Given the description of an element on the screen output the (x, y) to click on. 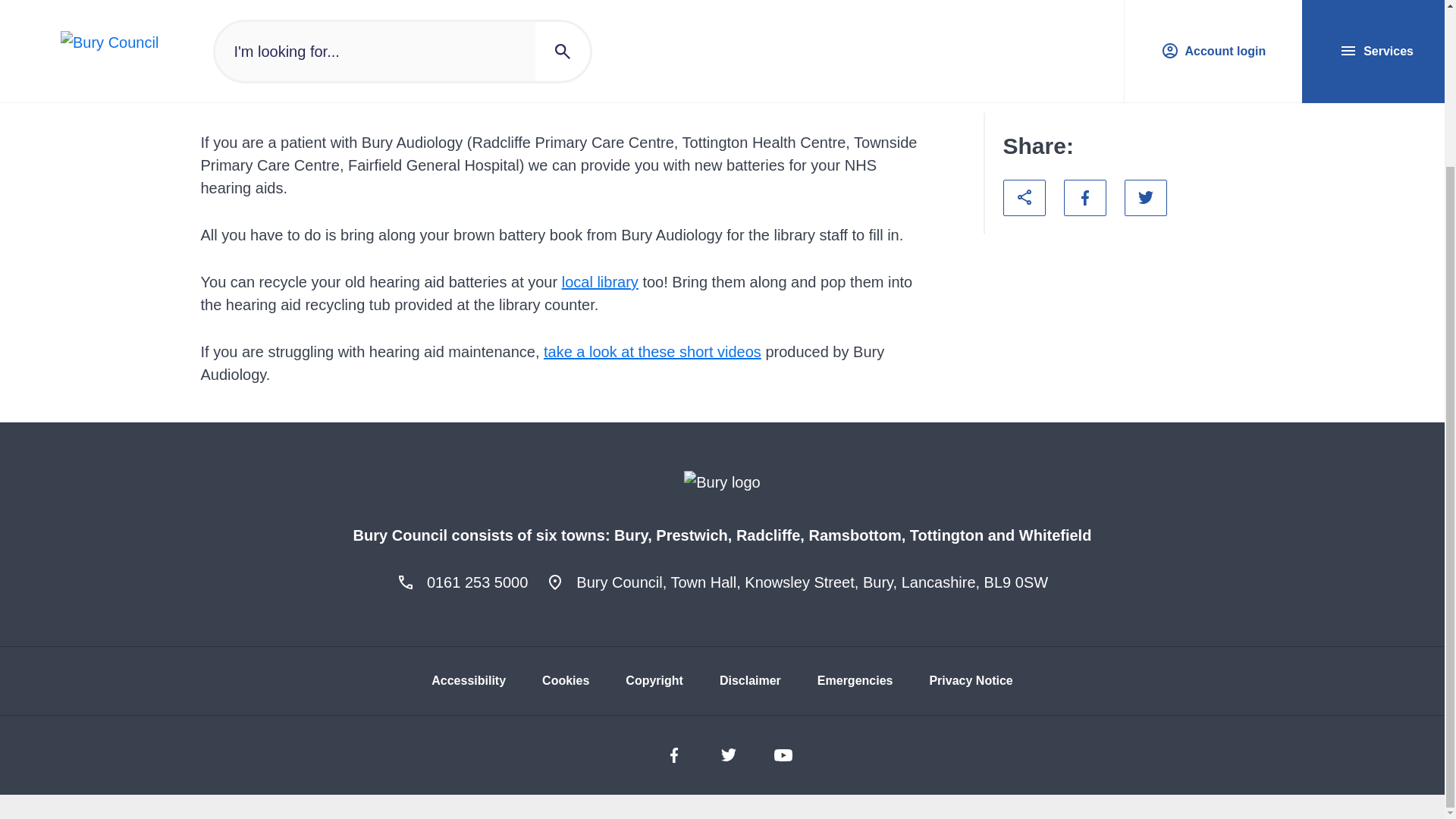
local library (600, 281)
